Given the description of an element on the screen output the (x, y) to click on. 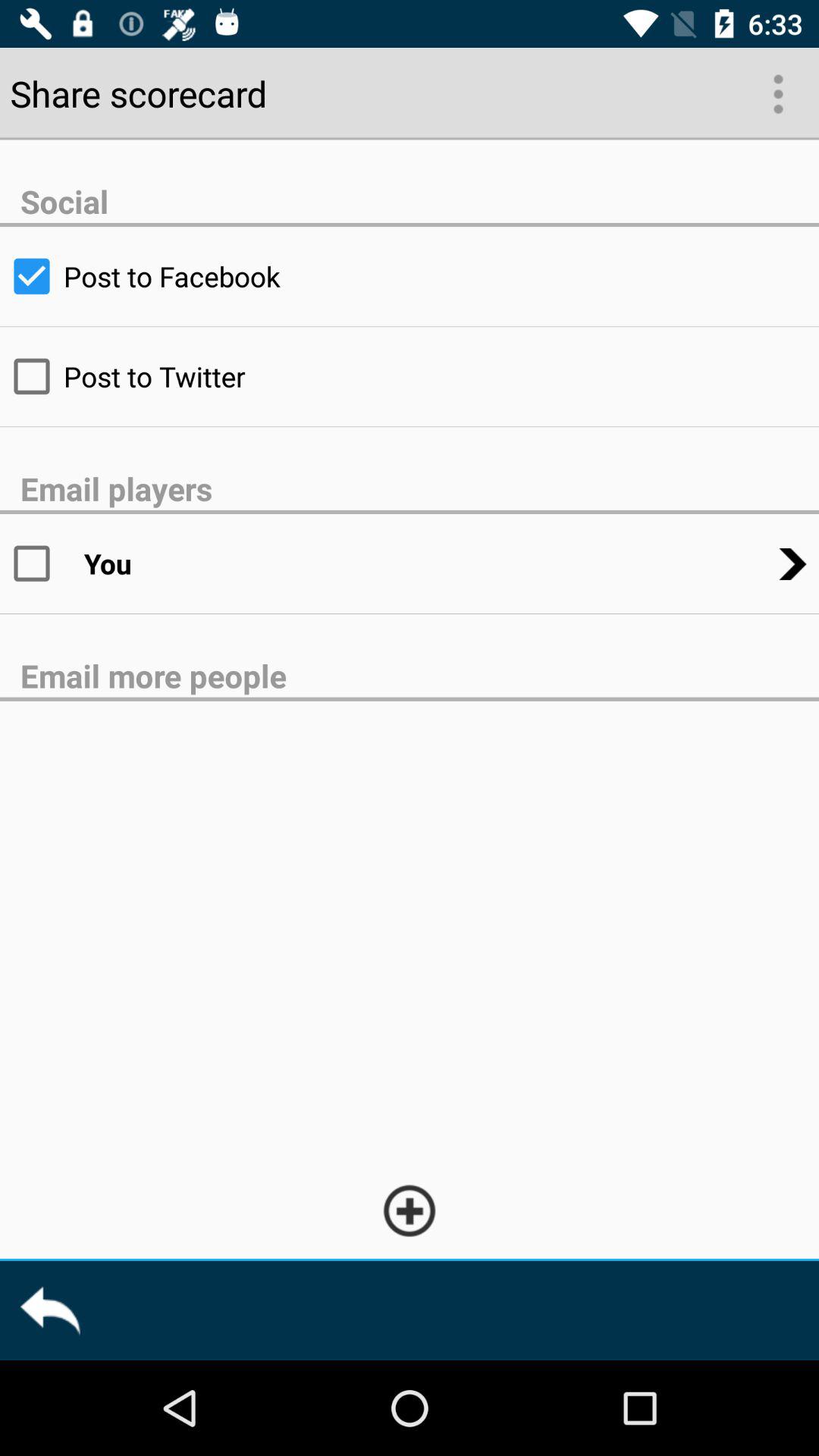
go to previous (49, 1310)
